Given the description of an element on the screen output the (x, y) to click on. 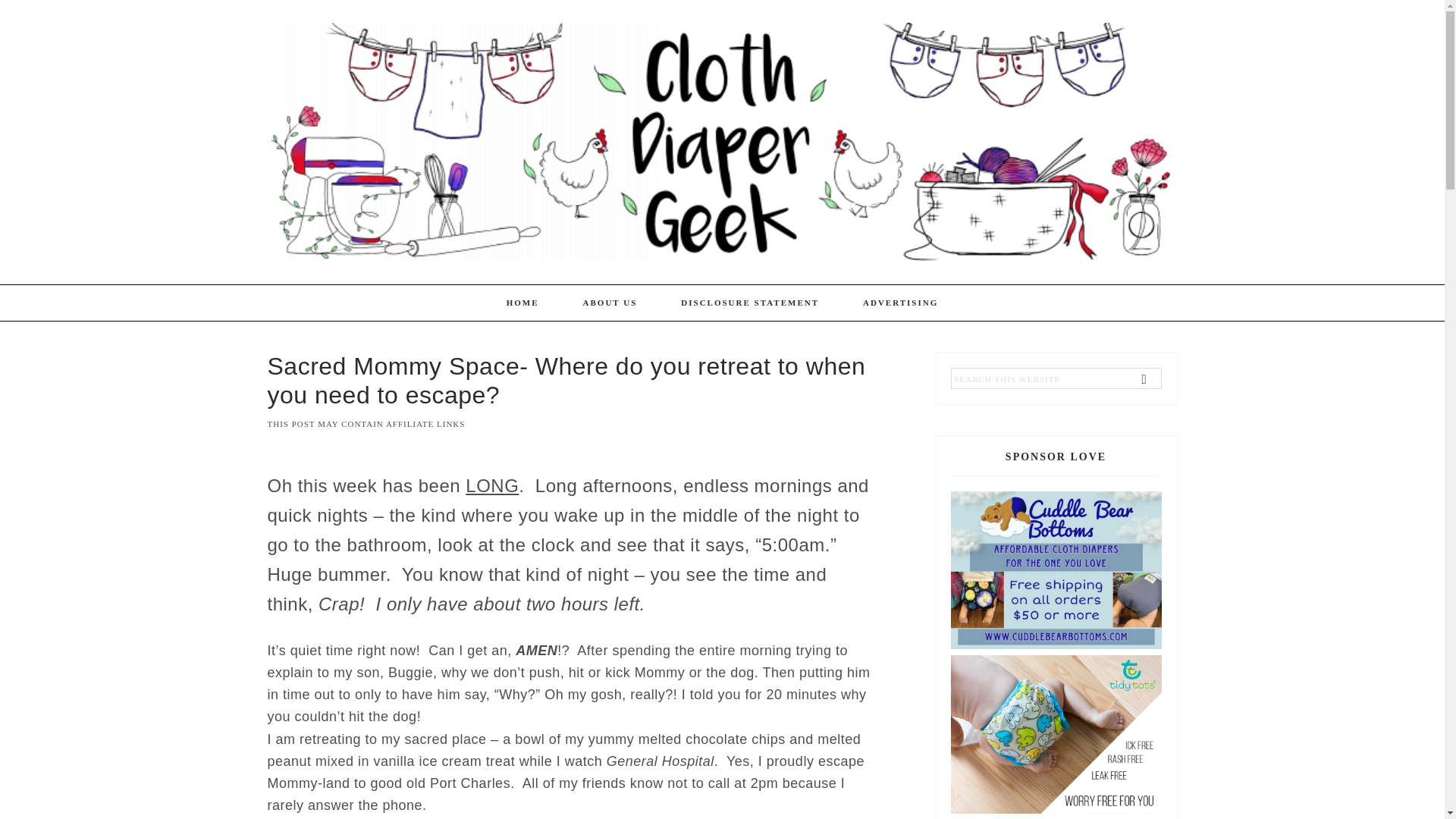
ABOUT US (610, 302)
ADVERTISING (900, 302)
DISCLOSURE STATEMENT (750, 302)
HOME (522, 302)
